Given the description of an element on the screen output the (x, y) to click on. 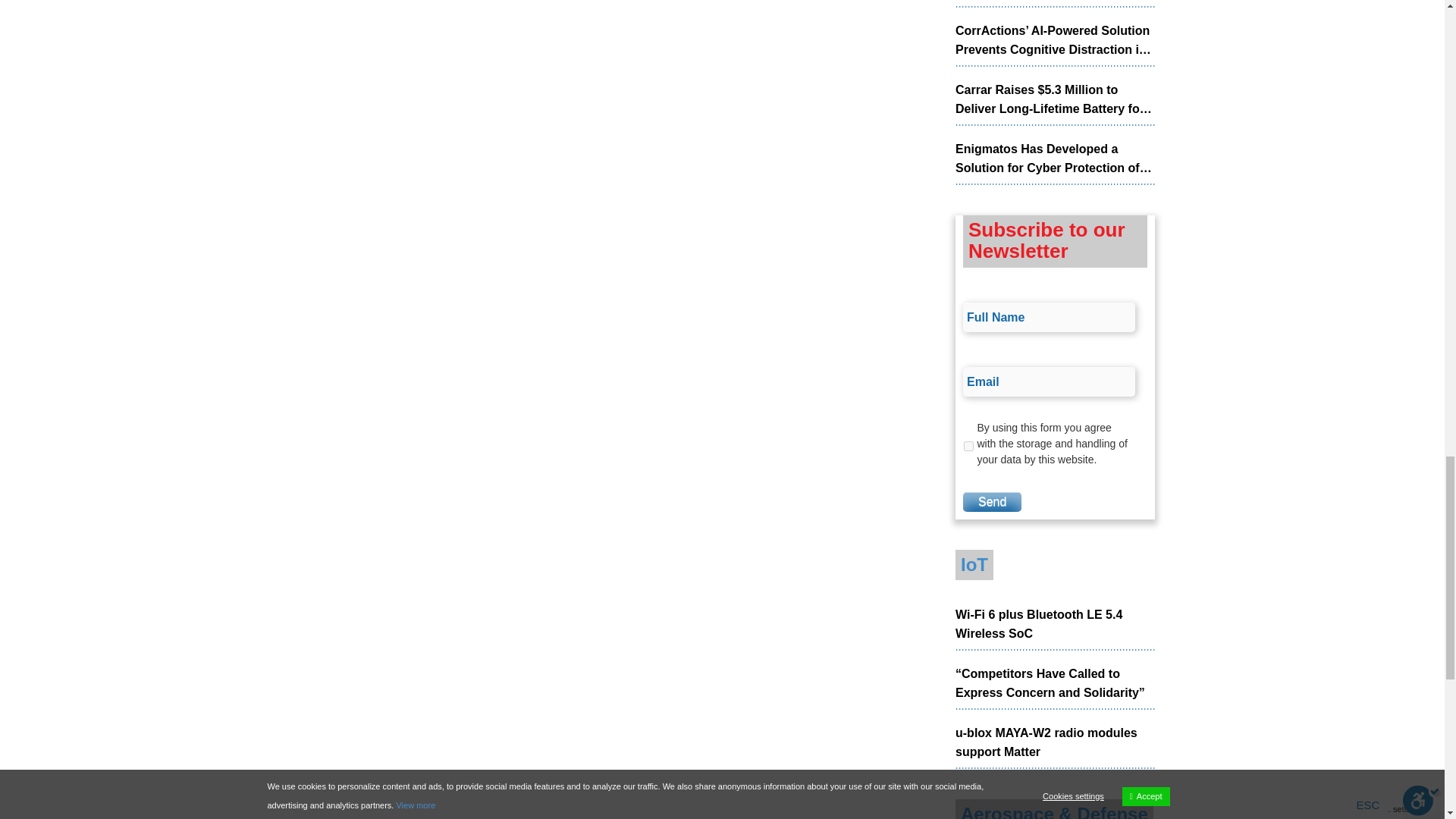
true (968, 446)
Send (992, 501)
